Given the description of an element on the screen output the (x, y) to click on. 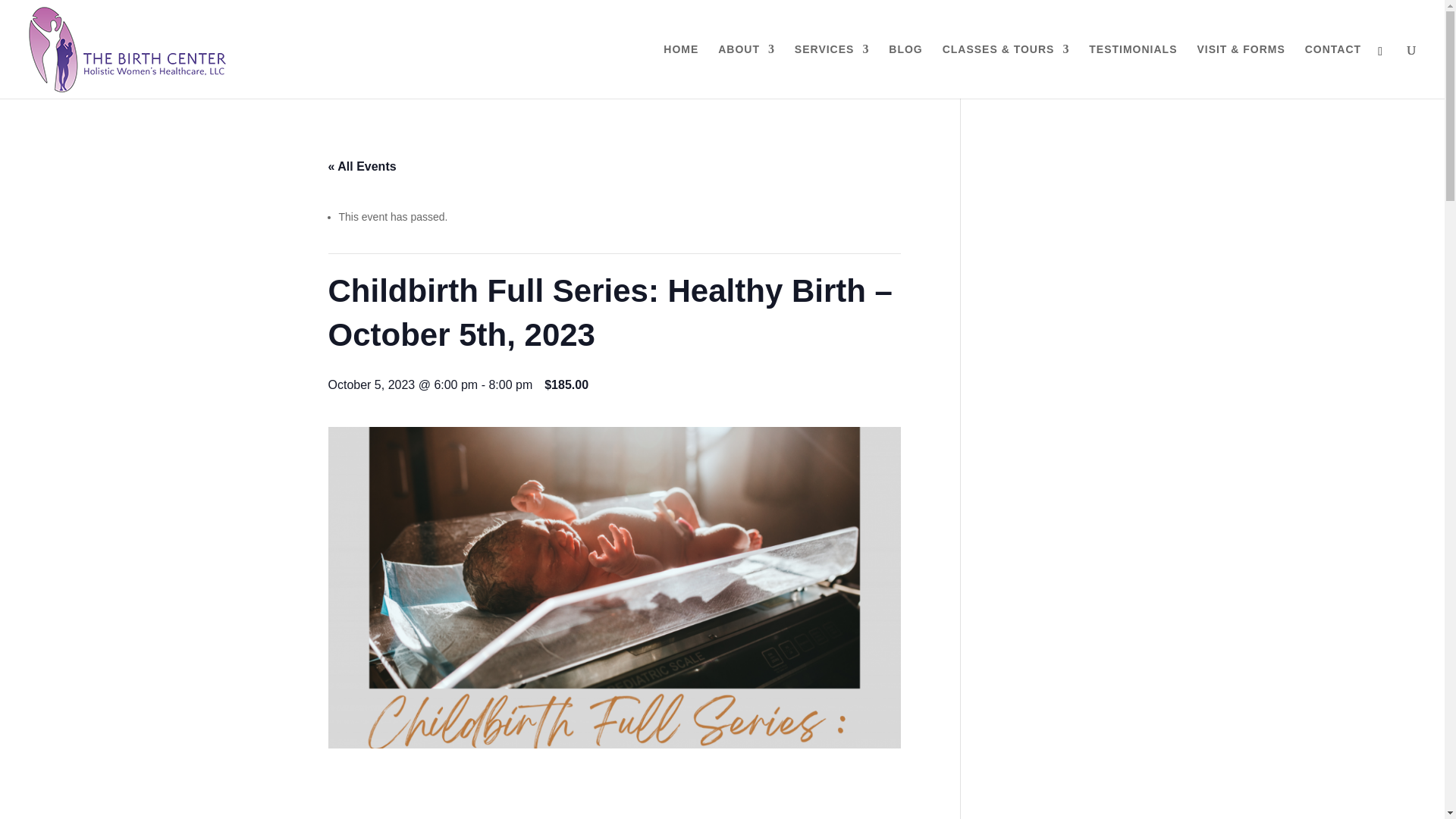
SERVICES (831, 71)
TESTIMONIALS (1132, 71)
CONTACT (1332, 71)
ABOUT (745, 71)
